Given the description of an element on the screen output the (x, y) to click on. 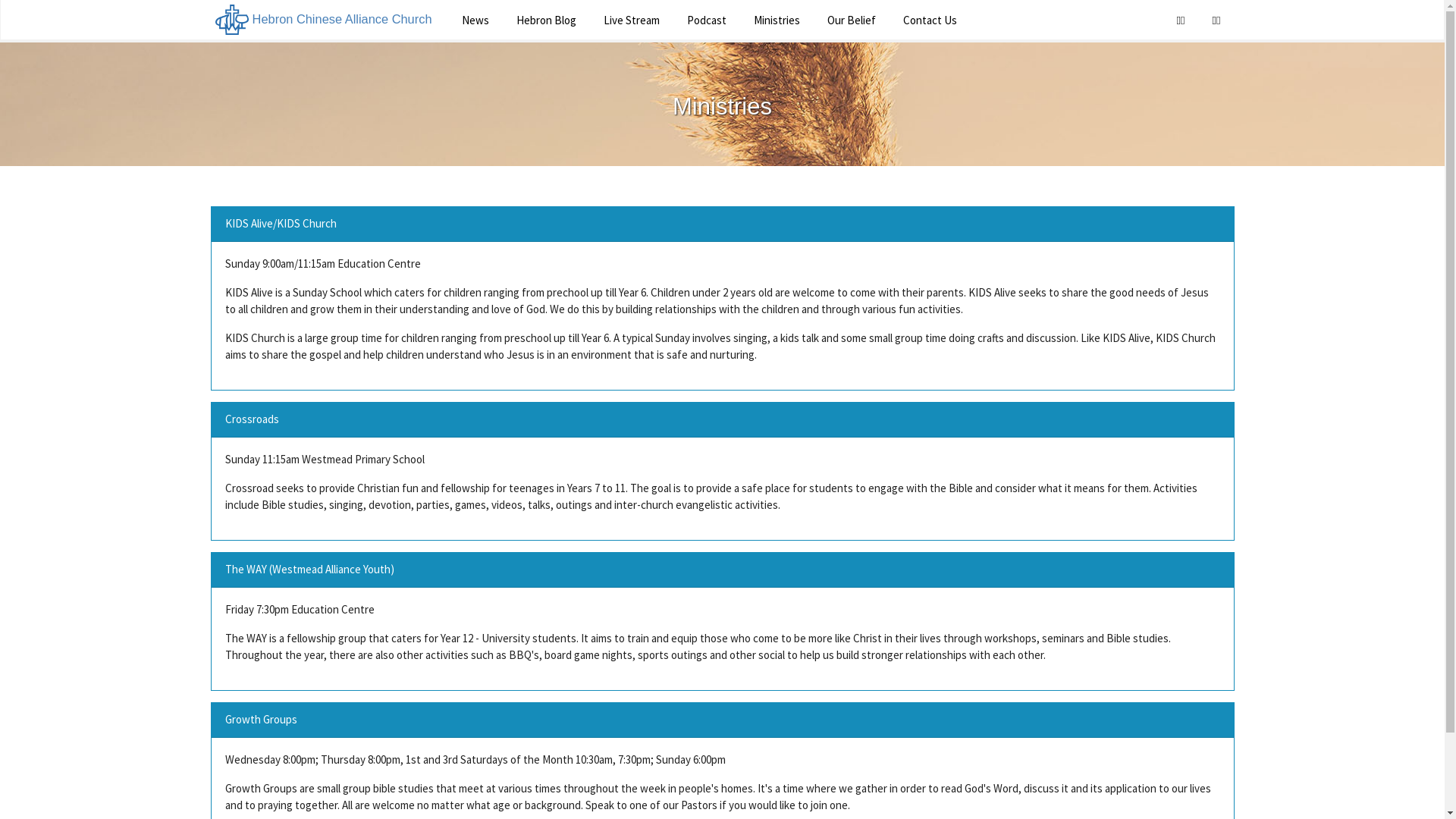
Podcast Element type: text (706, 19)
Contact Us Element type: text (928, 19)
Live Stream Element type: text (631, 19)
News Element type: text (474, 19)
Hebron Chinese Alliance Church Element type: text (323, 19)
Hebron Chinese Alliance Church Element type: hover (231, 19)
Ministries Element type: text (776, 19)
Hebron Blog Element type: text (545, 19)
Our Belief Element type: text (850, 19)
